Given the description of an element on the screen output the (x, y) to click on. 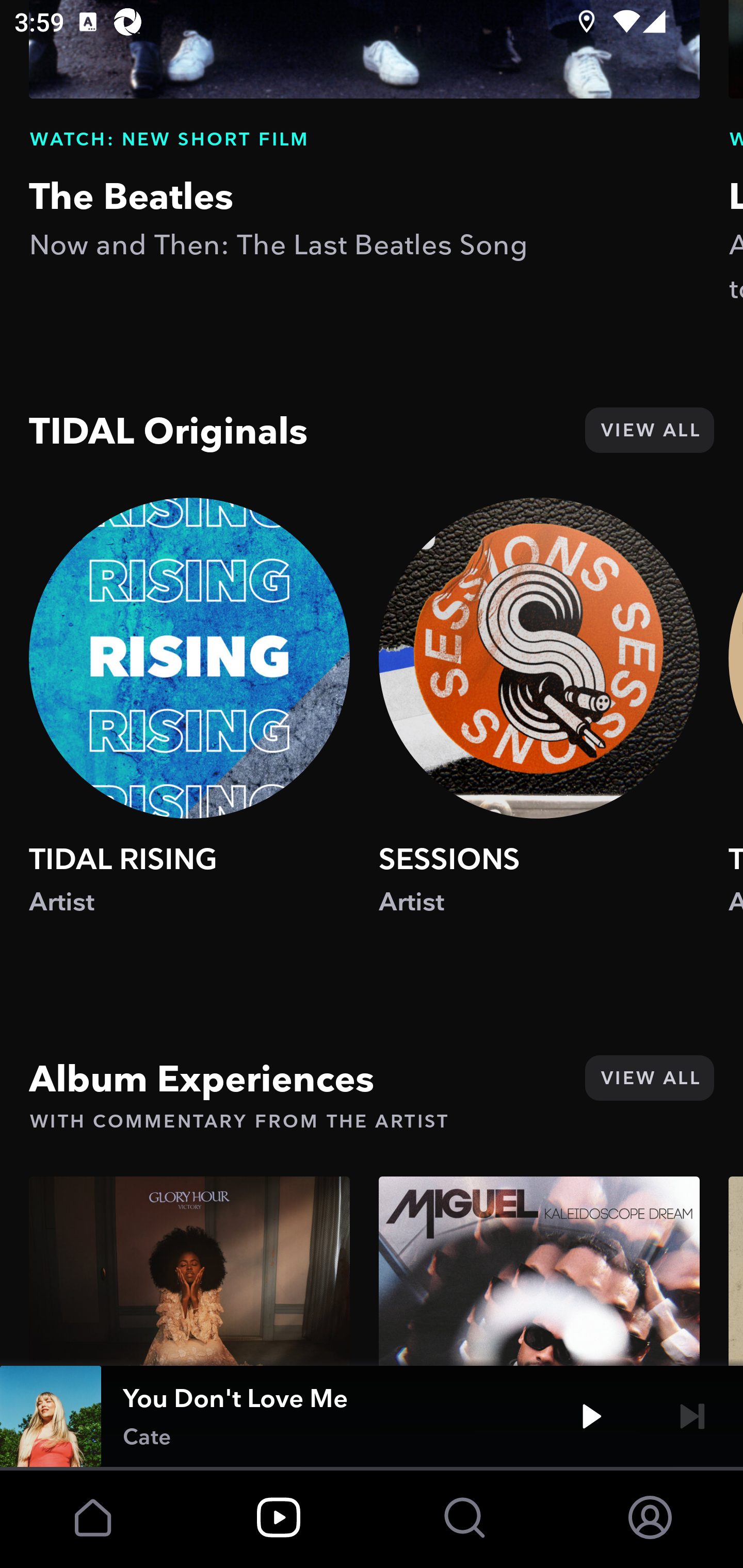
VIEW ALL (649, 430)
TIDAL RISING Artist (188, 725)
SESSIONS Artist (538, 725)
VIEW ALL (649, 1077)
You Don't Love Me Cate Play (371, 1416)
Play (590, 1416)
